Given the description of an element on the screen output the (x, y) to click on. 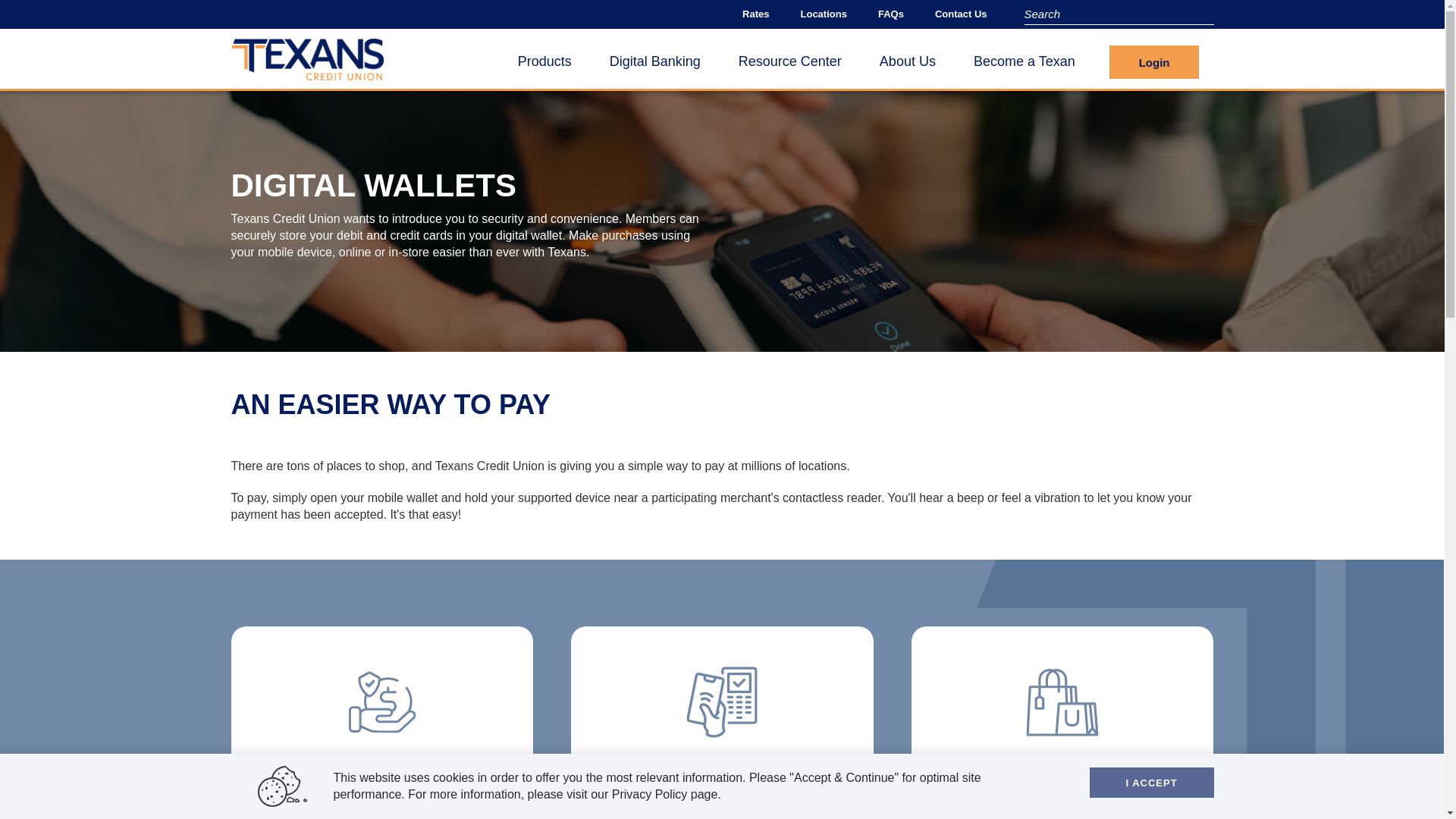
Contact Us (968, 14)
FAQs (898, 14)
Products (545, 61)
Locations (831, 14)
Rates (763, 14)
